Given the description of an element on the screen output the (x, y) to click on. 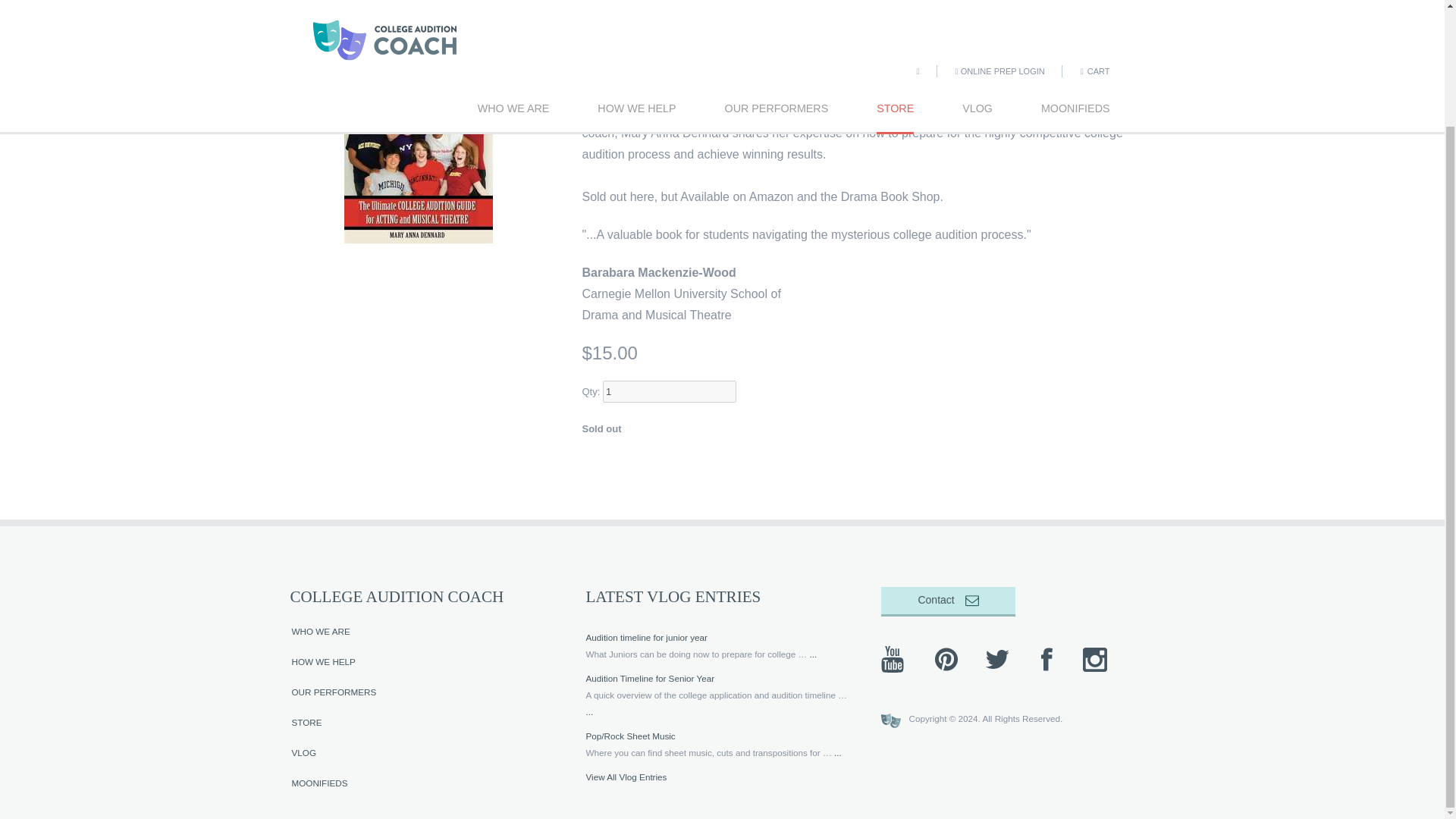
Instagram (1095, 659)
Pintrest (945, 659)
WHO WE ARE (425, 633)
OUR PERFORMERS (425, 693)
View All Vlog Entries (625, 777)
VLOG (425, 754)
Twitter (995, 659)
Facebook (1046, 659)
1 (669, 391)
Audition timeline for junior year (645, 637)
